Given the description of an element on the screen output the (x, y) to click on. 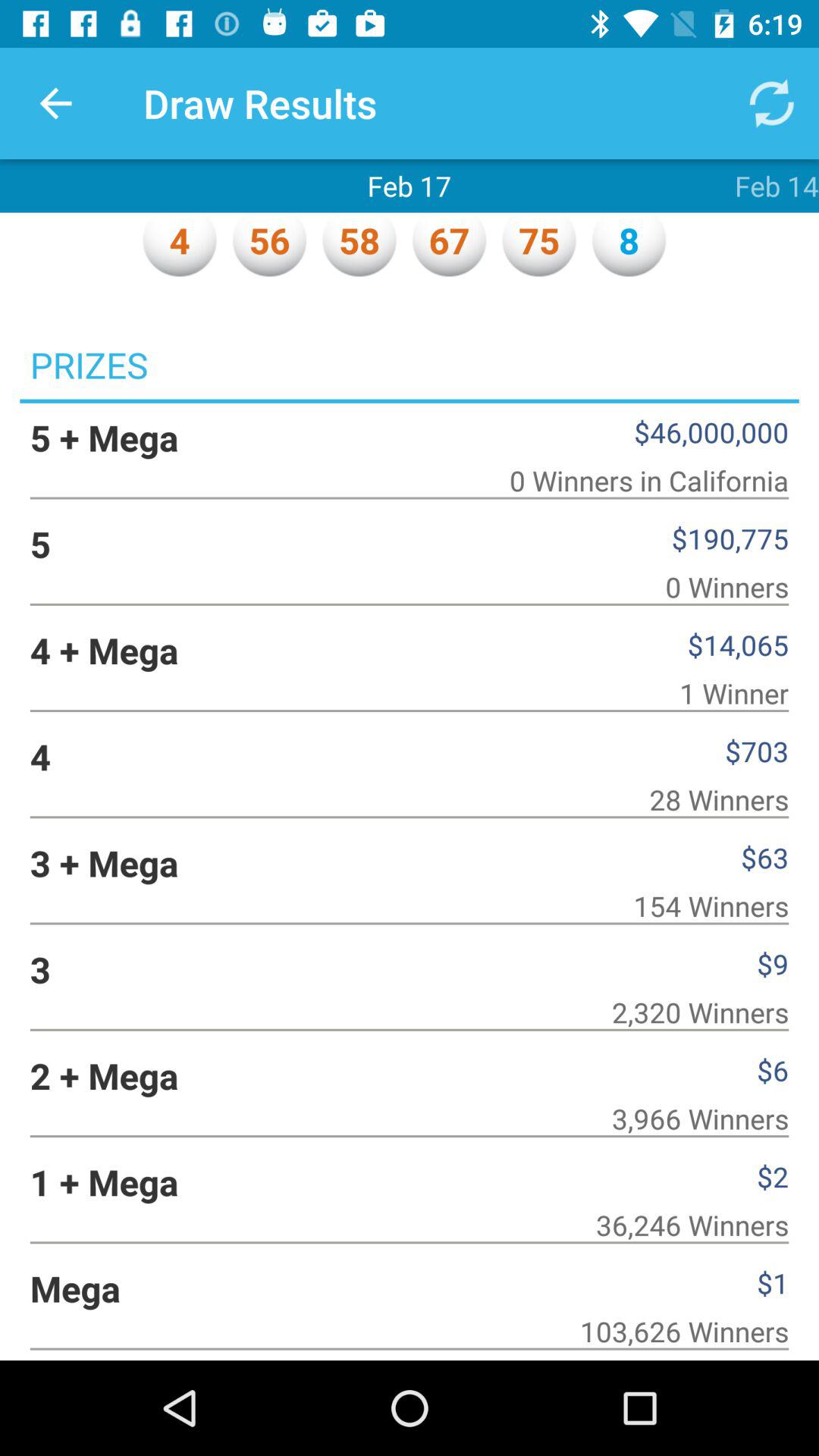
launch the icon next to the draw results icon (55, 103)
